Given the description of an element on the screen output the (x, y) to click on. 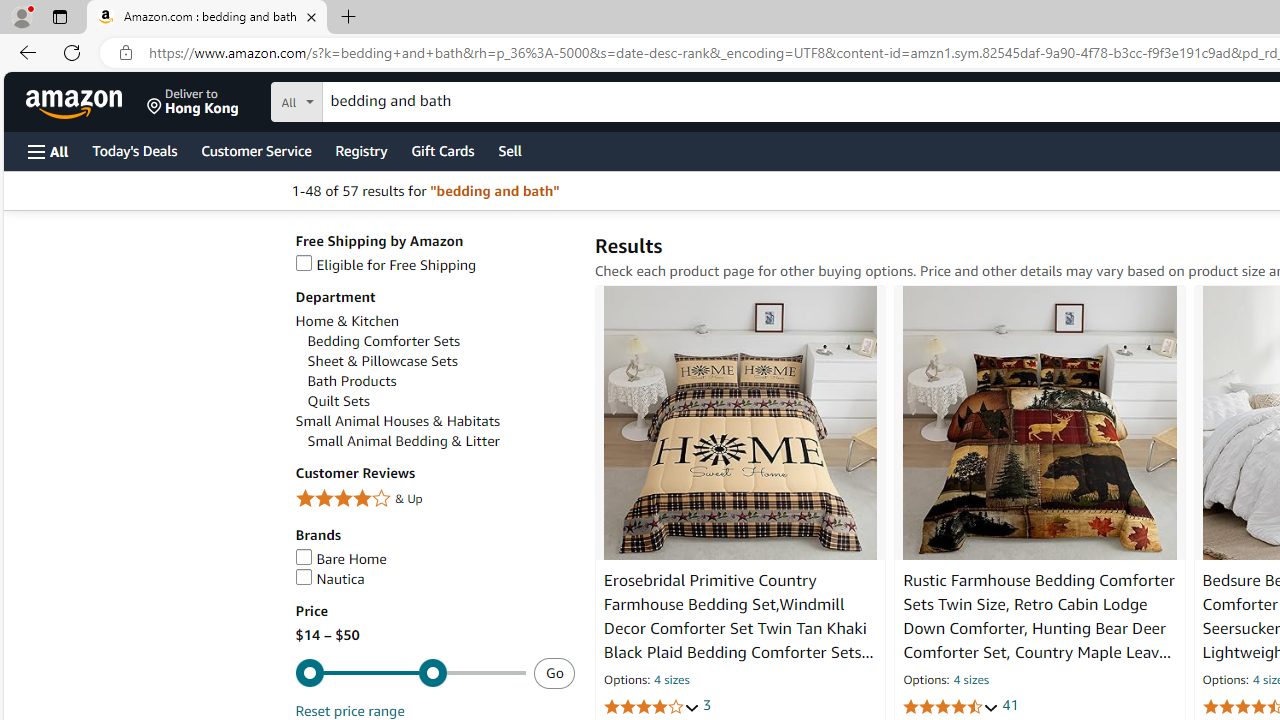
Minimum (410, 673)
Amazon (76, 101)
Home & Kitchen (346, 321)
4 Stars & Up& Up (434, 499)
Eligible for Free Shipping (385, 264)
Bare Home (340, 558)
Amazon.com : bedding and bath (207, 17)
Quilt Sets (338, 401)
Nautica (329, 578)
Deliver to Hong Kong (193, 101)
Small Animal Bedding & Litter (403, 441)
4.3 out of 5 stars (950, 706)
